Given the description of an element on the screen output the (x, y) to click on. 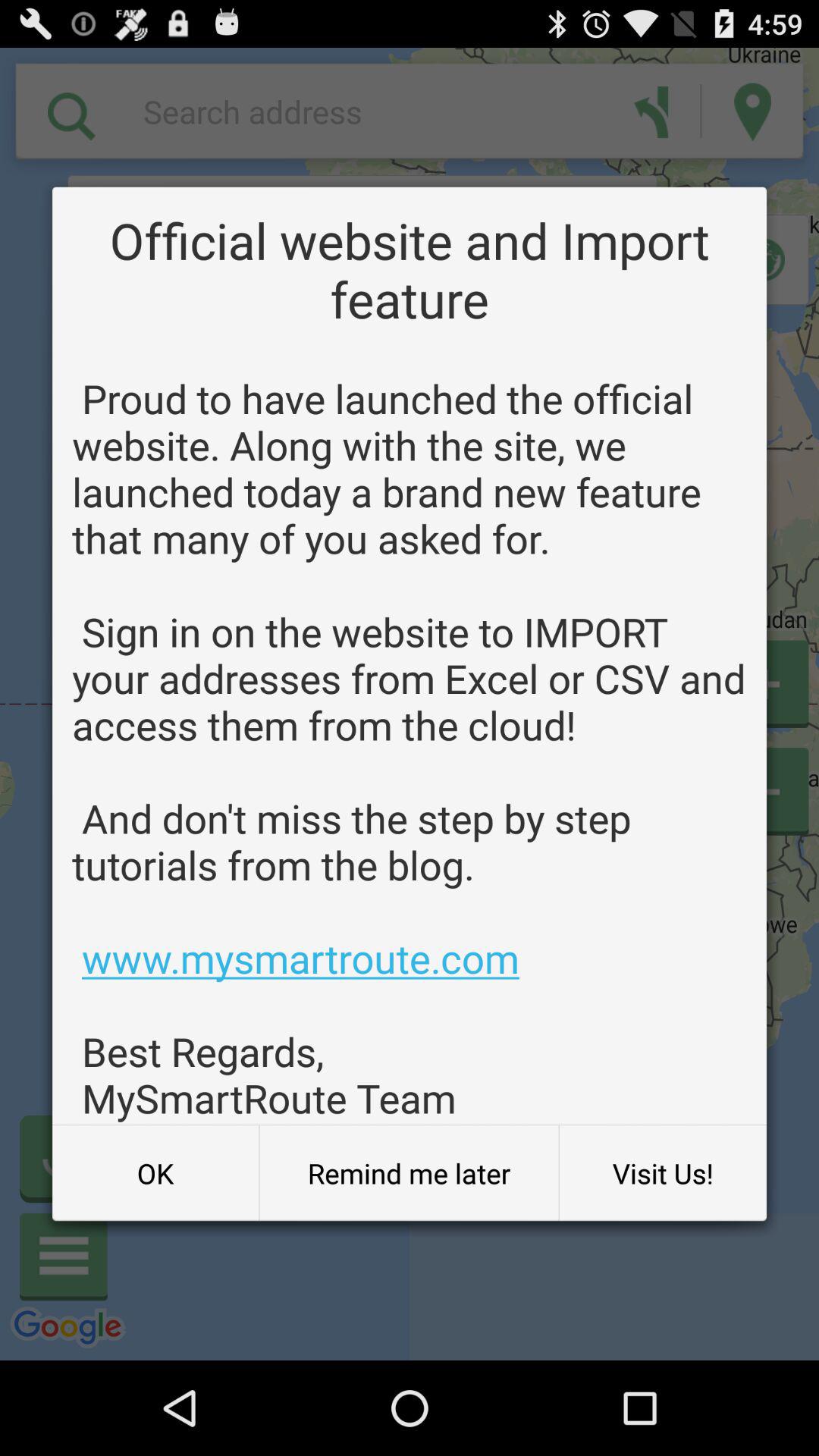
open button to the right of the ok button (408, 1173)
